Given the description of an element on the screen output the (x, y) to click on. 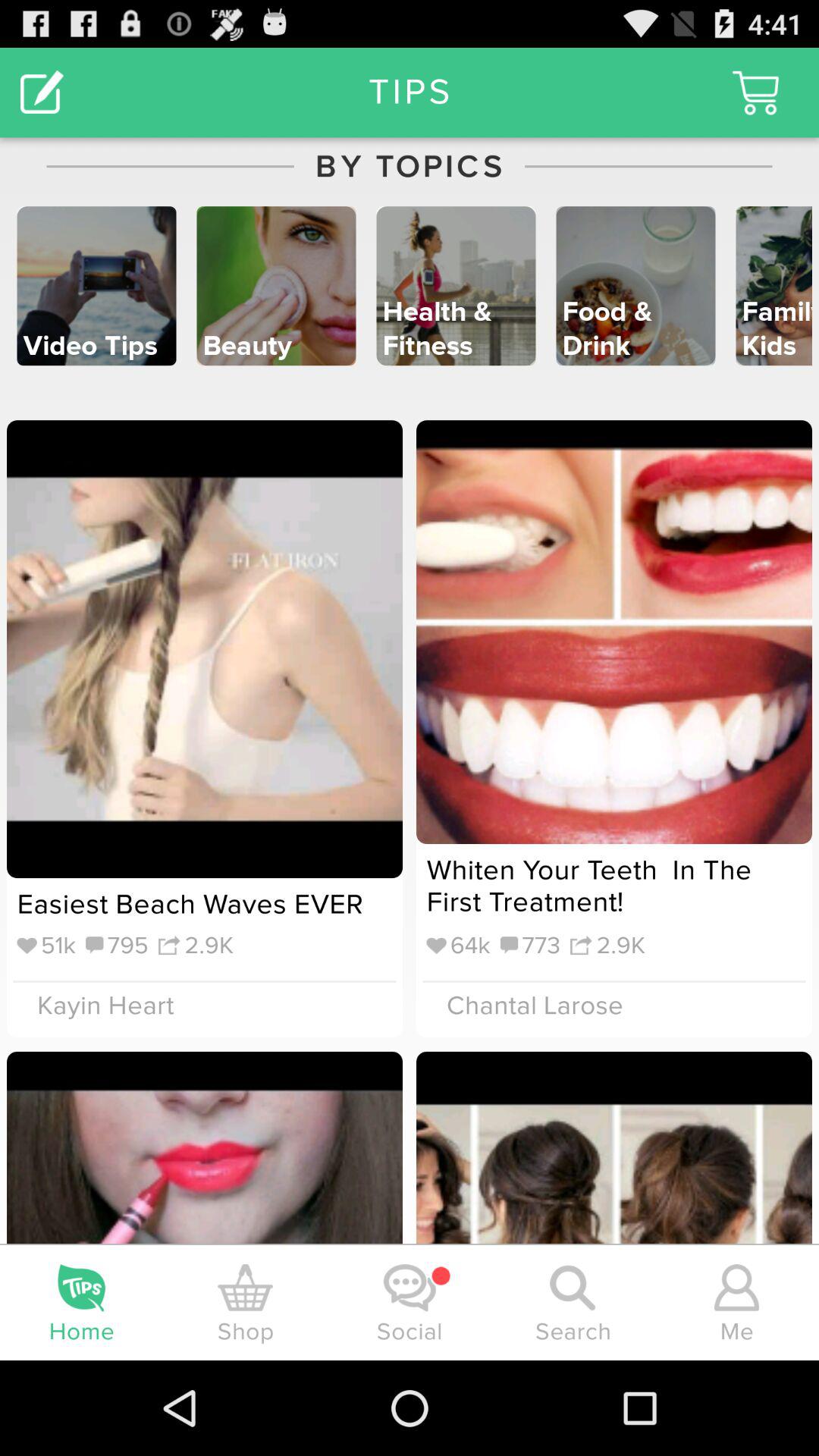
open cart (755, 92)
